Given the description of an element on the screen output the (x, y) to click on. 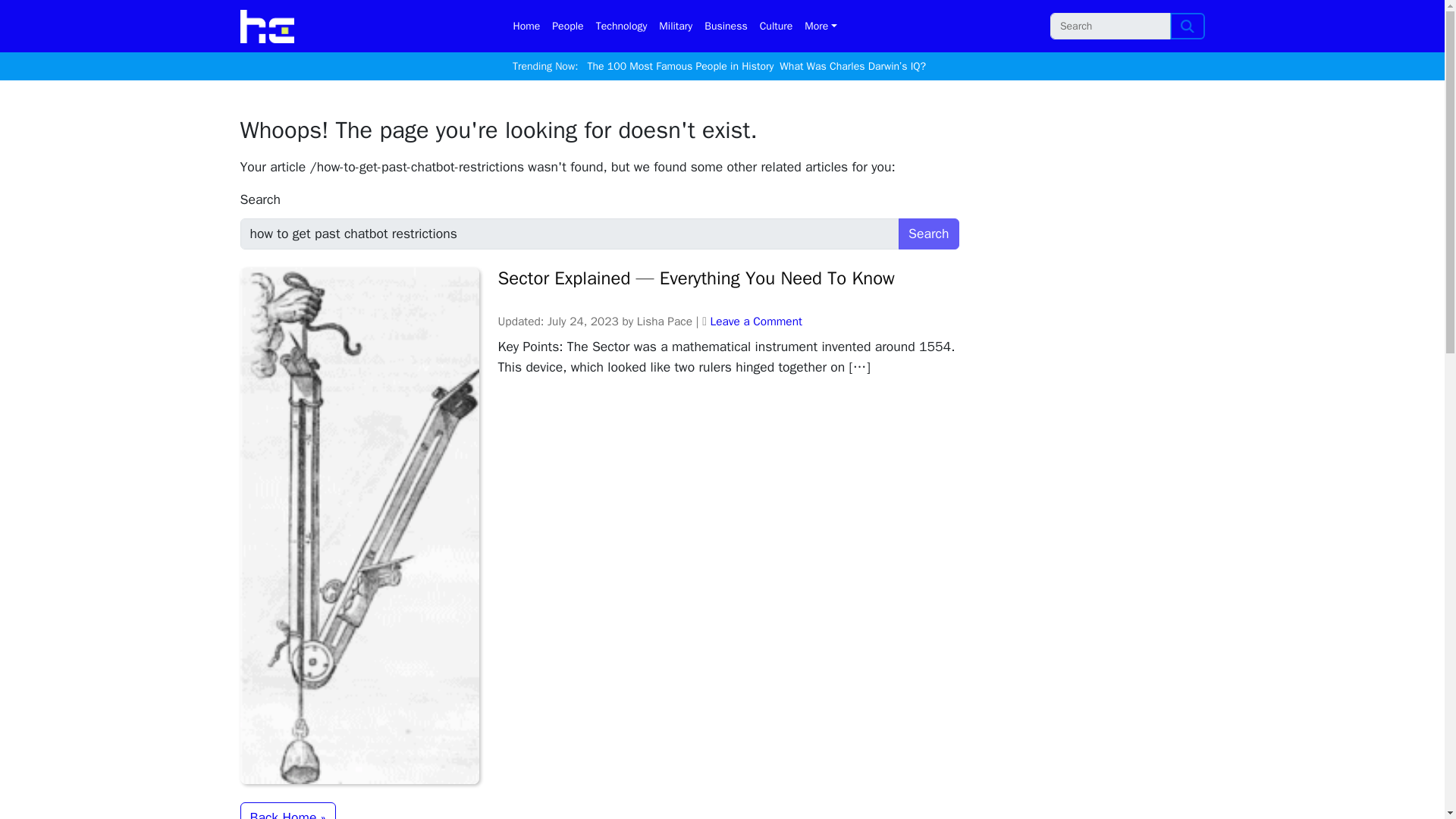
how to get past chatbot restrictions (569, 233)
Culture (776, 26)
Business (725, 26)
Leave a Comment (756, 321)
More (820, 26)
Military (675, 26)
how to get past chatbot restrictions (569, 233)
The 100 Most Famous People in History (681, 66)
Home (526, 26)
Search (1187, 26)
Technology (621, 26)
Lisha Pace (665, 321)
Search (928, 233)
People (567, 26)
